Given the description of an element on the screen output the (x, y) to click on. 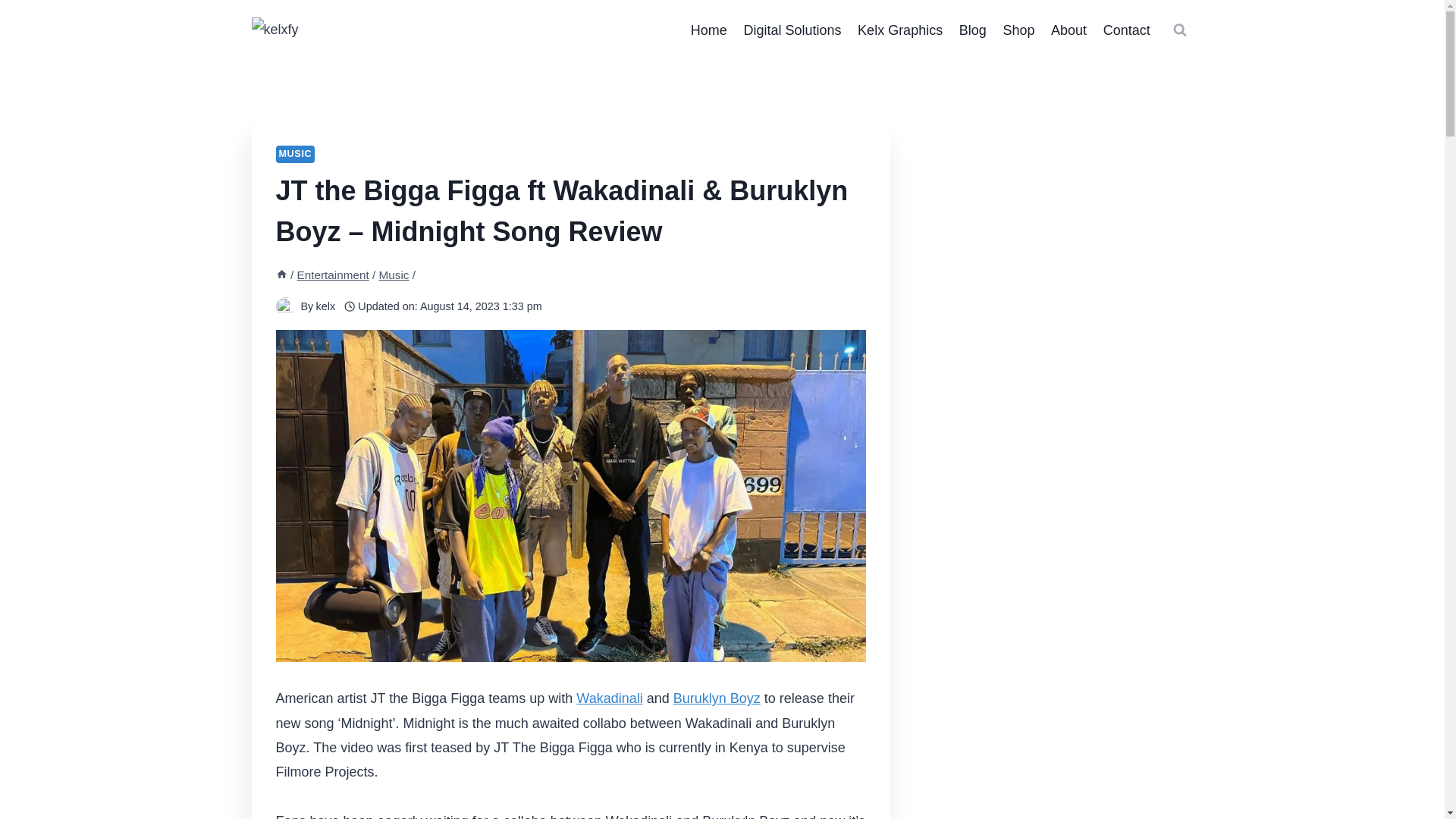
Contact (1126, 29)
About (1068, 29)
Buruklyn Boyz (716, 698)
Shop (1018, 29)
Kelx Graphics (899, 29)
Wakadinali (609, 698)
Music (393, 274)
Digital Solutions (792, 29)
Entertainment (333, 274)
kelx (324, 306)
Home (708, 29)
MUSIC (295, 153)
Blog (972, 29)
